Given the description of an element on the screen output the (x, y) to click on. 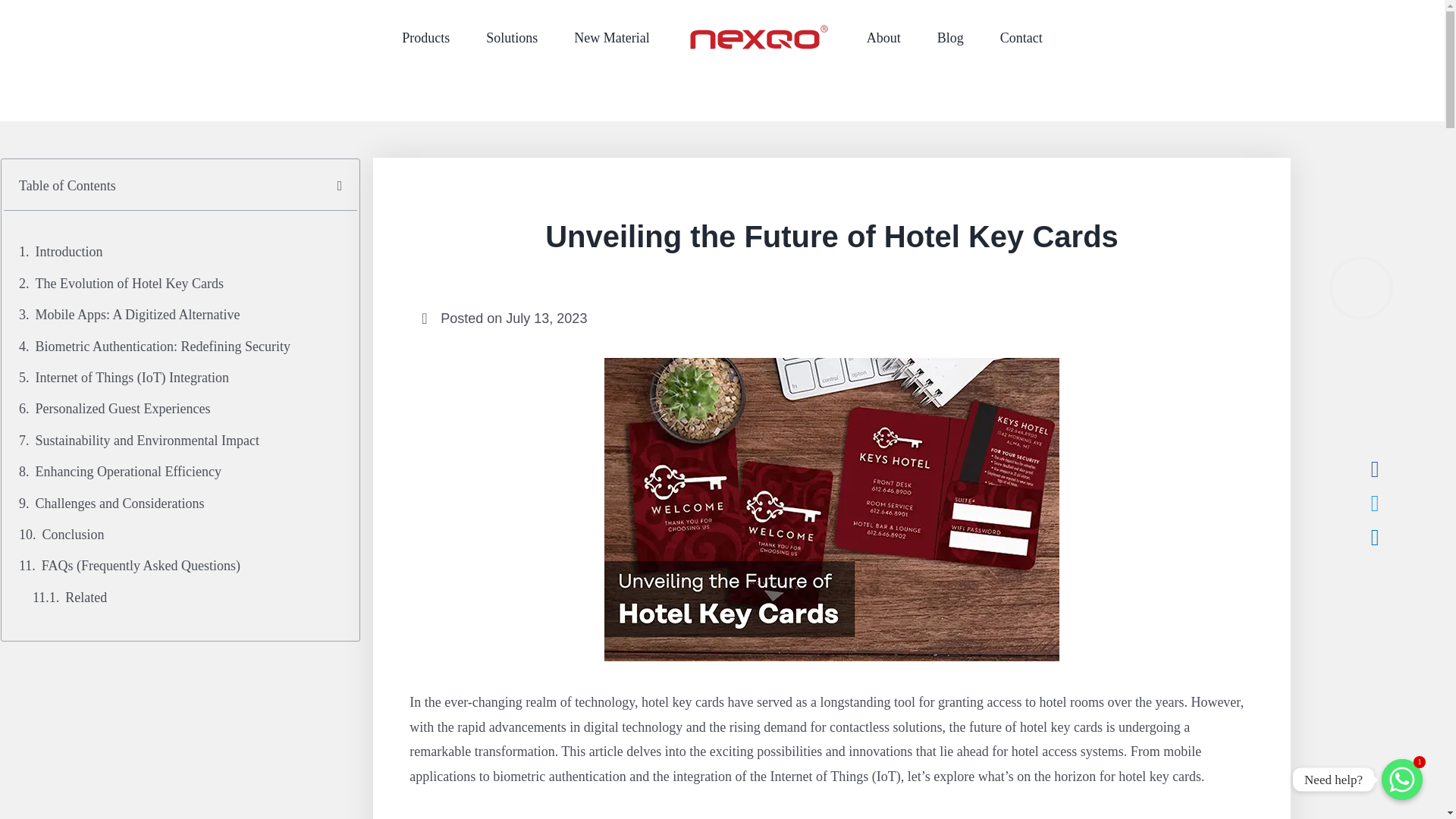
New Material (611, 37)
Blog (950, 37)
Contact (1021, 37)
About (883, 37)
Solutions (511, 37)
Products (425, 37)
